Given the description of an element on the screen output the (x, y) to click on. 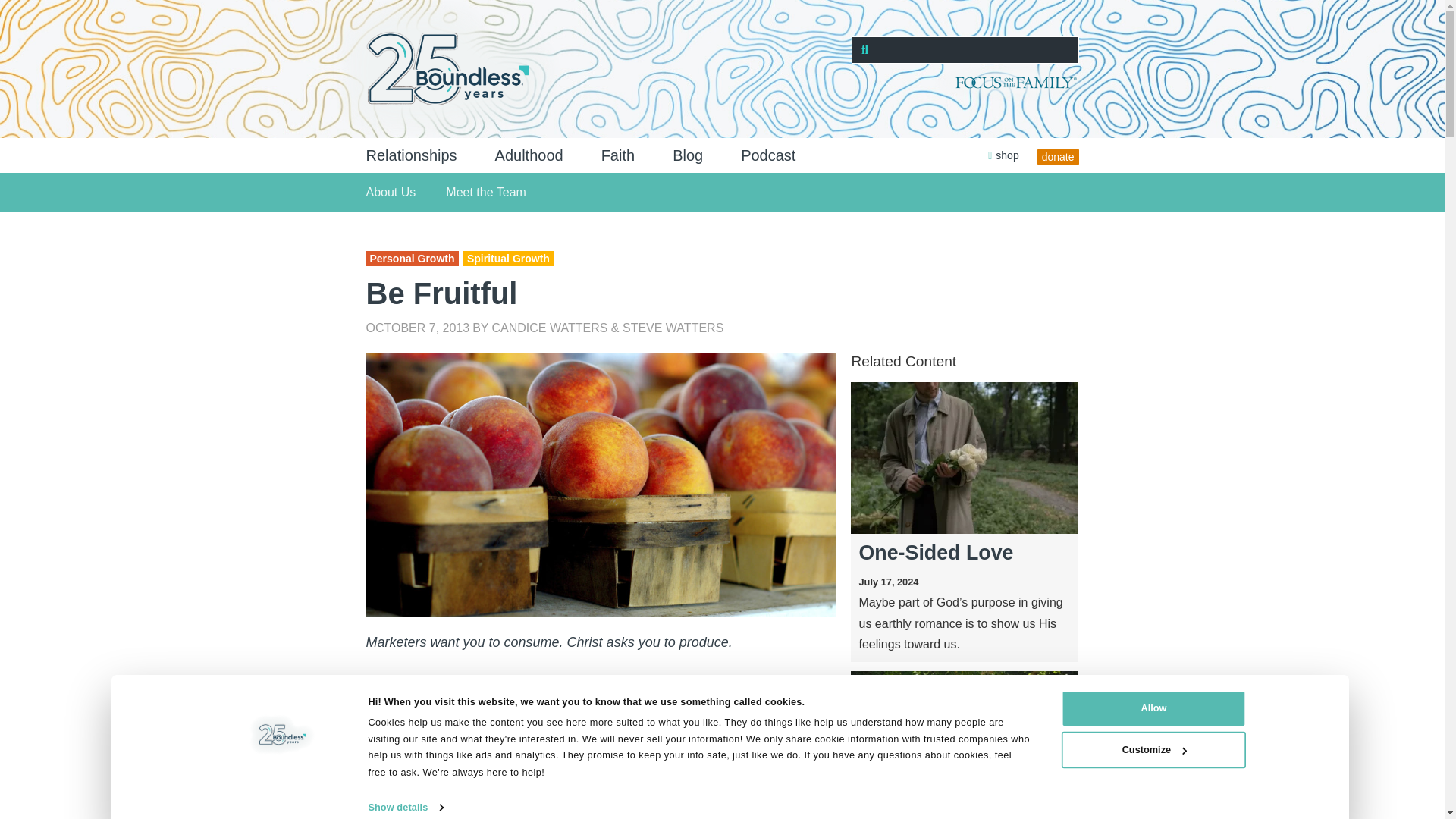
Show details (412, 808)
